Given the description of an element on the screen output the (x, y) to click on. 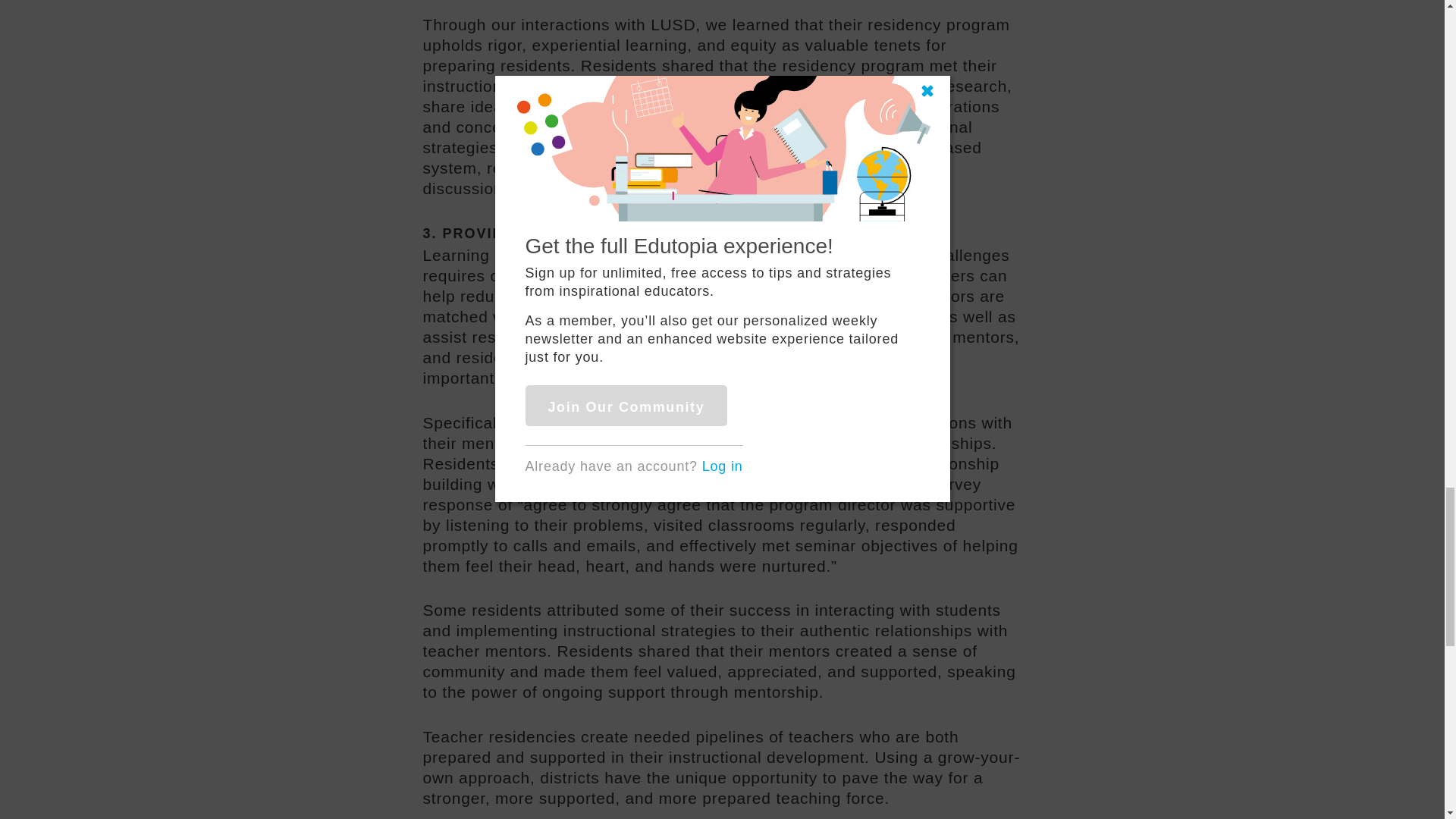
establishing strong relationships (768, 357)
